Given the description of an element on the screen output the (x, y) to click on. 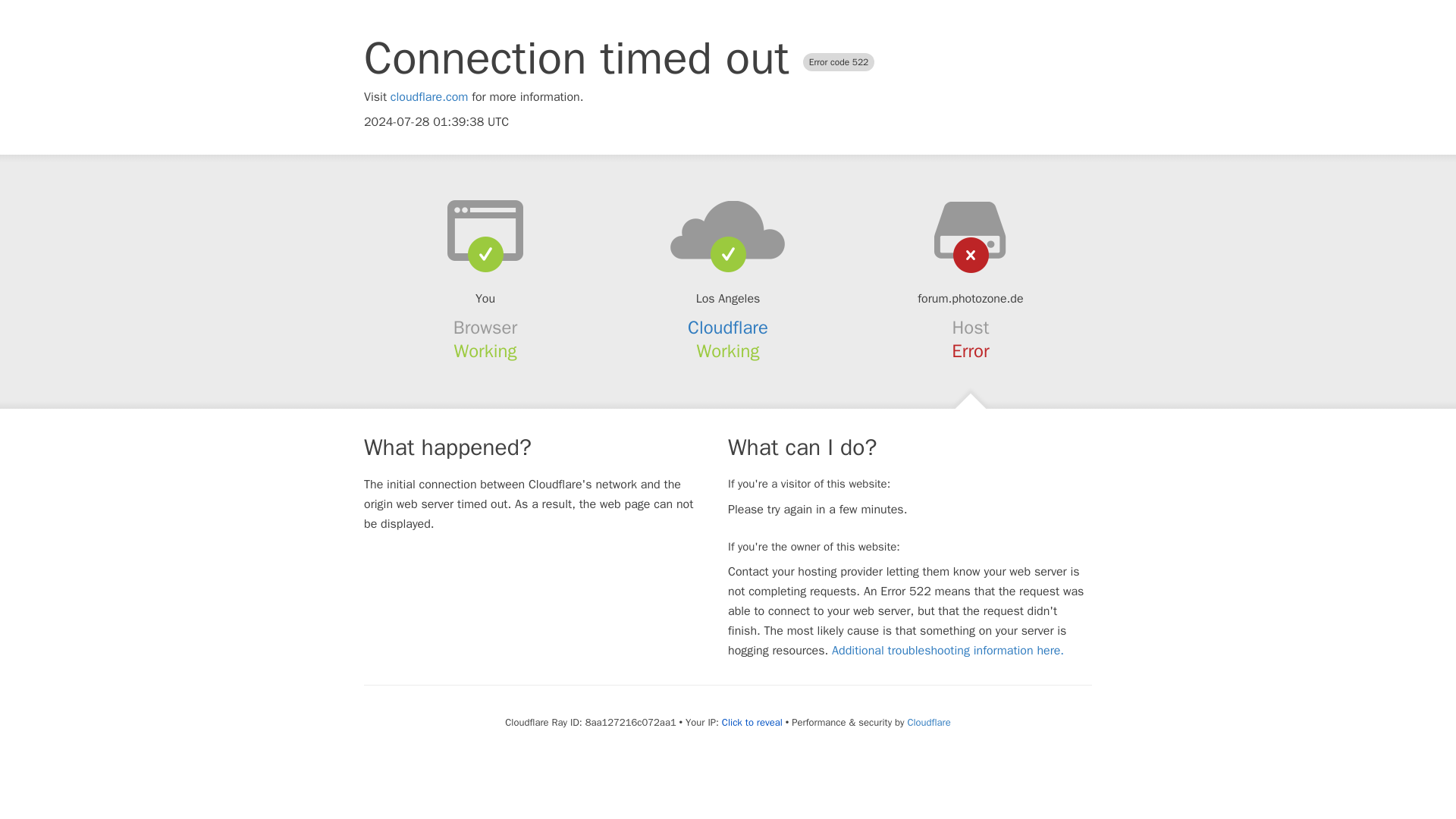
Cloudflare (928, 721)
Click to reveal (752, 722)
Cloudflare (727, 327)
Additional troubleshooting information here. (947, 650)
cloudflare.com (429, 96)
